Given the description of an element on the screen output the (x, y) to click on. 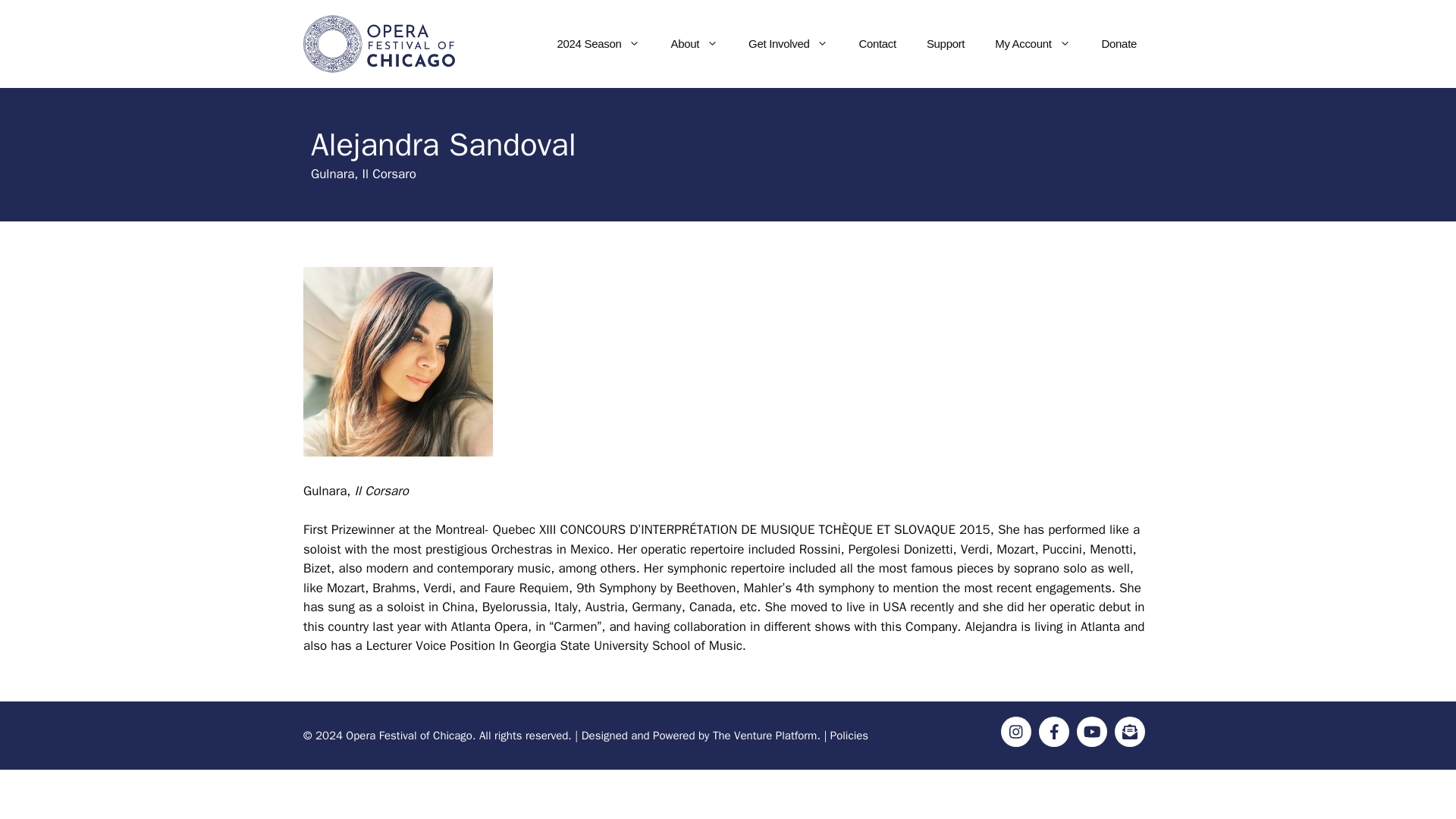
2024 Season (598, 43)
The Venture Platform (764, 735)
Support (945, 43)
Get Involved (788, 43)
About (694, 43)
Contact (877, 43)
My Account (1031, 43)
Donate (1118, 43)
Policies (848, 735)
